Given the description of an element on the screen output the (x, y) to click on. 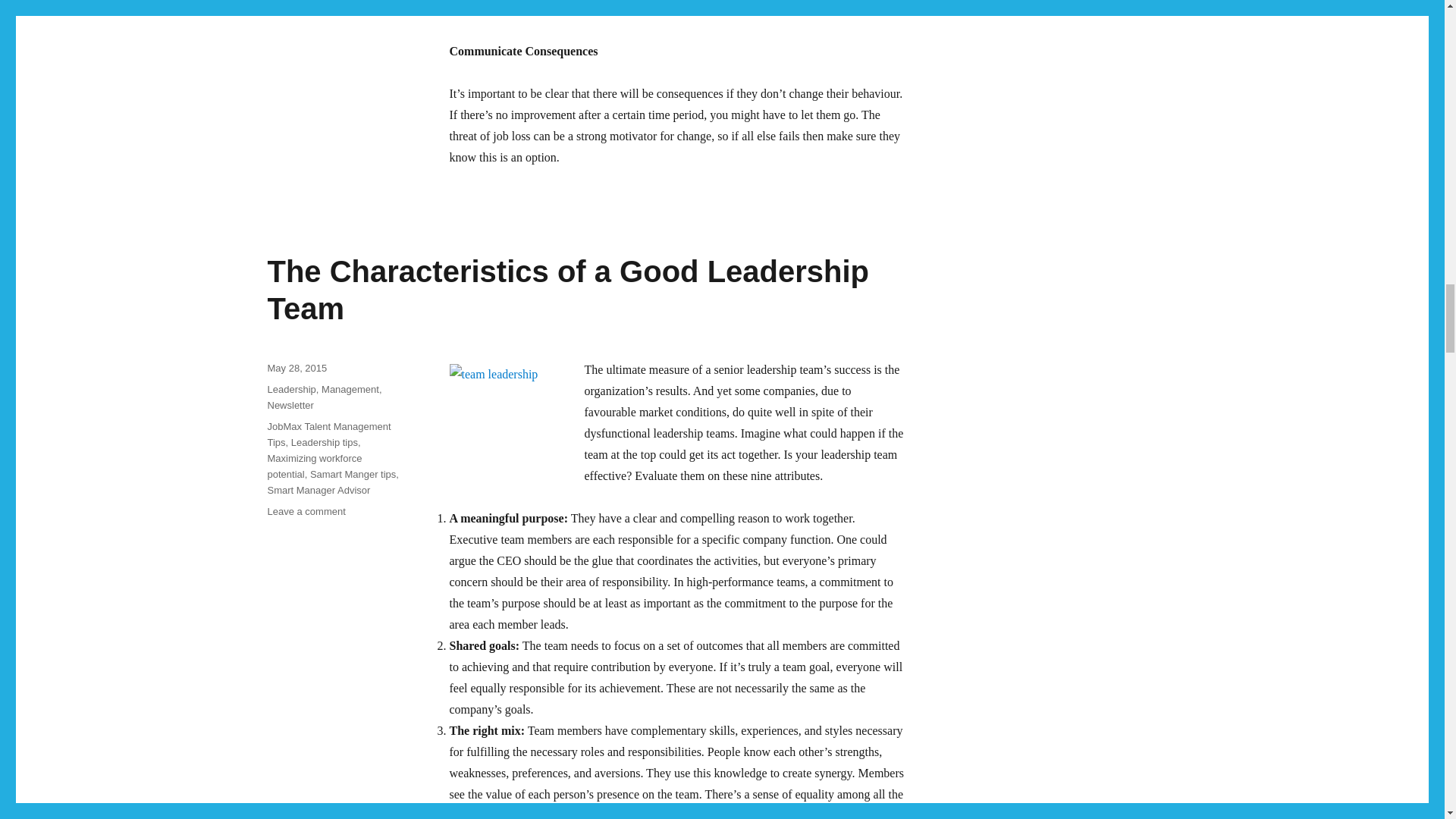
May 28, 2015 (296, 367)
Maximizing workforce potential (313, 465)
JobMax Talent Management Tips (328, 433)
The Characteristics of a Good Leadership Team (567, 289)
Newsletter (289, 405)
Leadership (290, 389)
Leadership tips (324, 441)
Management (349, 389)
